Given the description of an element on the screen output the (x, y) to click on. 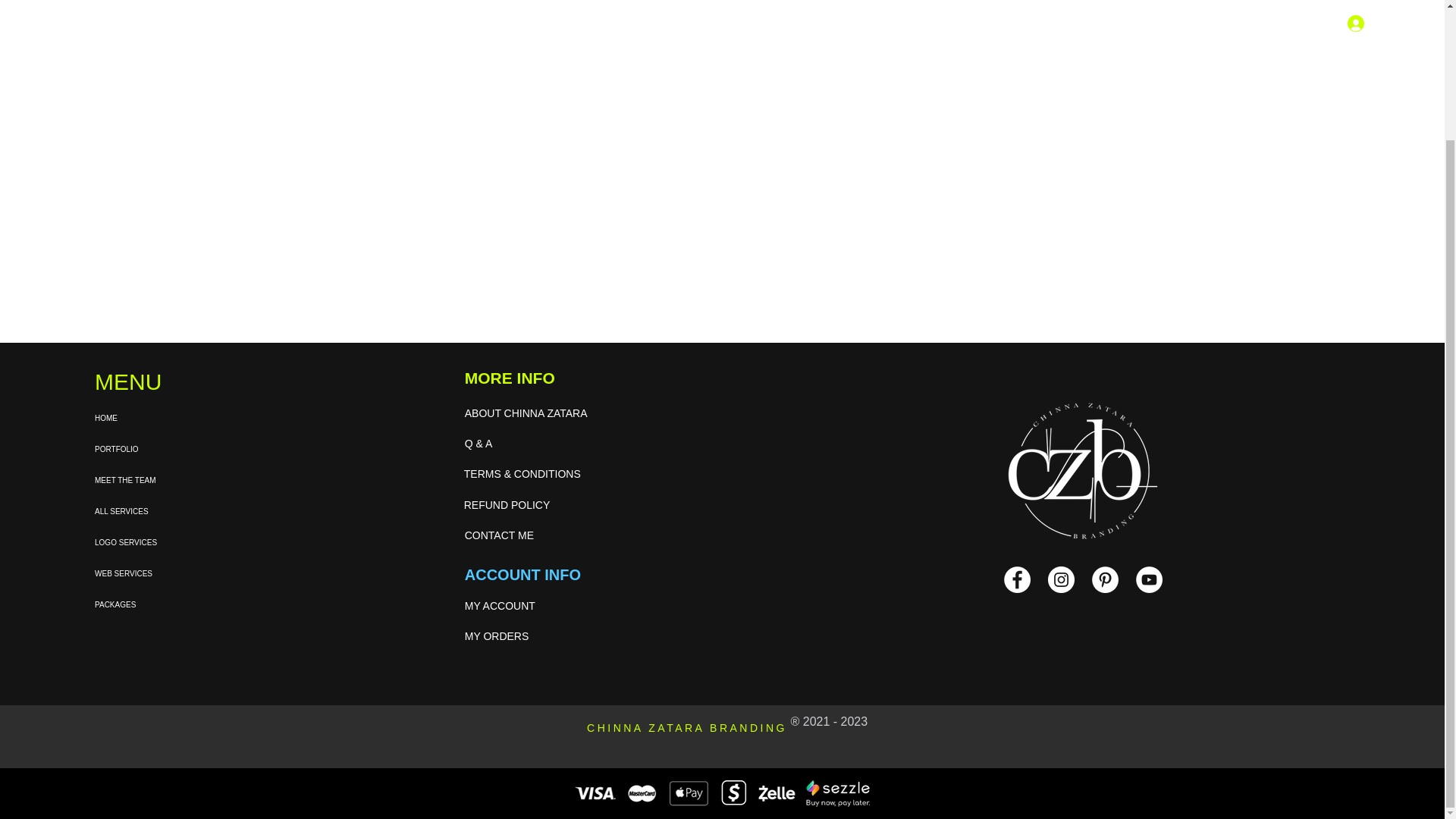
ALL SERVICES (188, 511)
PACKAGES (188, 603)
ABOUT CHINNA ZATARA (552, 413)
MY ORDERS (542, 636)
WEB SERVICES (188, 572)
REFUND POLICY (544, 505)
CONTACT ME (545, 535)
PORTFOLIO (188, 449)
LOGO SERVICES (188, 542)
HOME (188, 418)
